Given the description of an element on the screen output the (x, y) to click on. 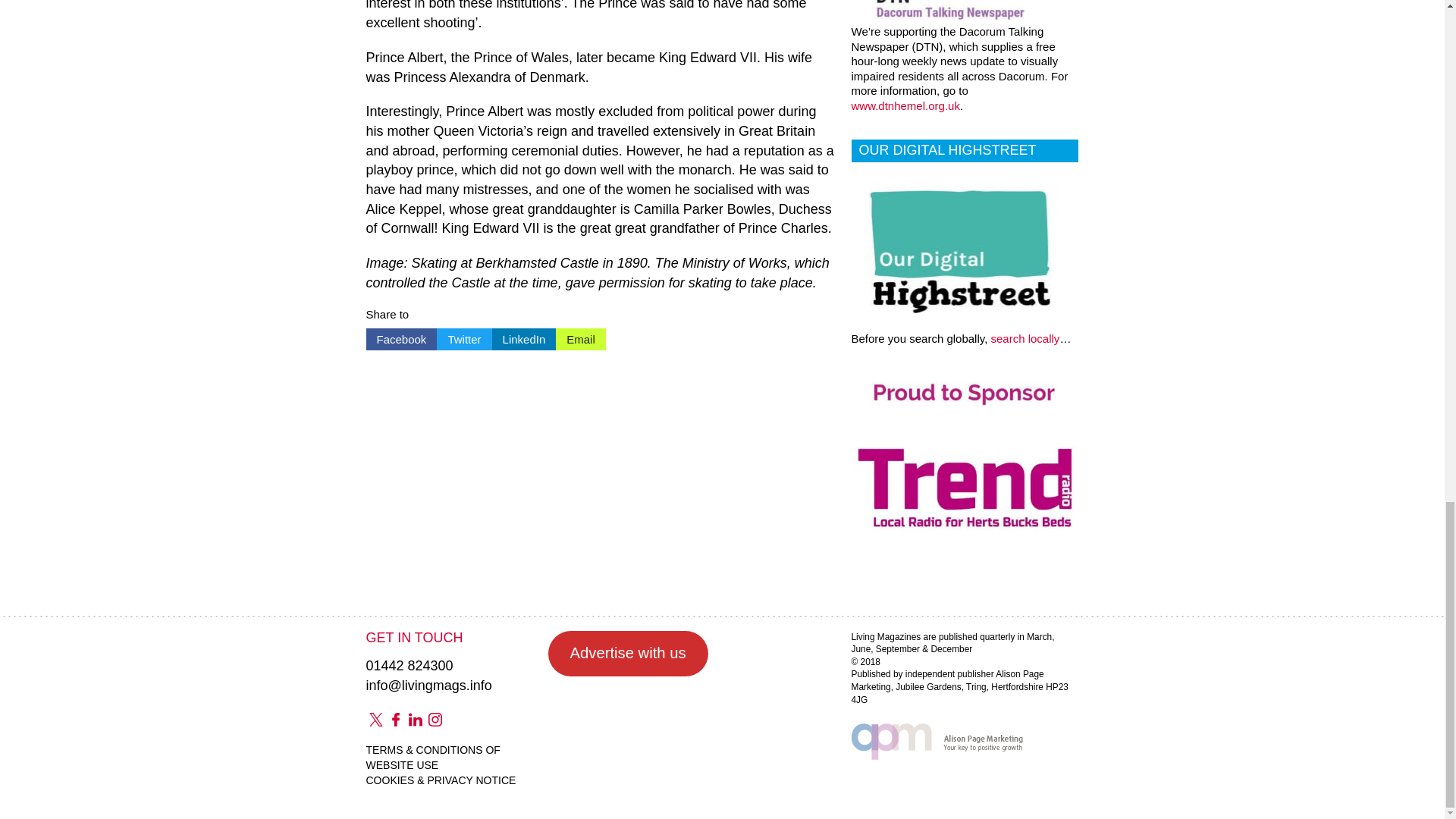
Facebook (394, 719)
Instagram (434, 719)
Email (580, 339)
Twitter (464, 339)
LinkedIn (524, 339)
X (375, 719)
Facebook (400, 339)
Linkedin (414, 719)
